Given the description of an element on the screen output the (x, y) to click on. 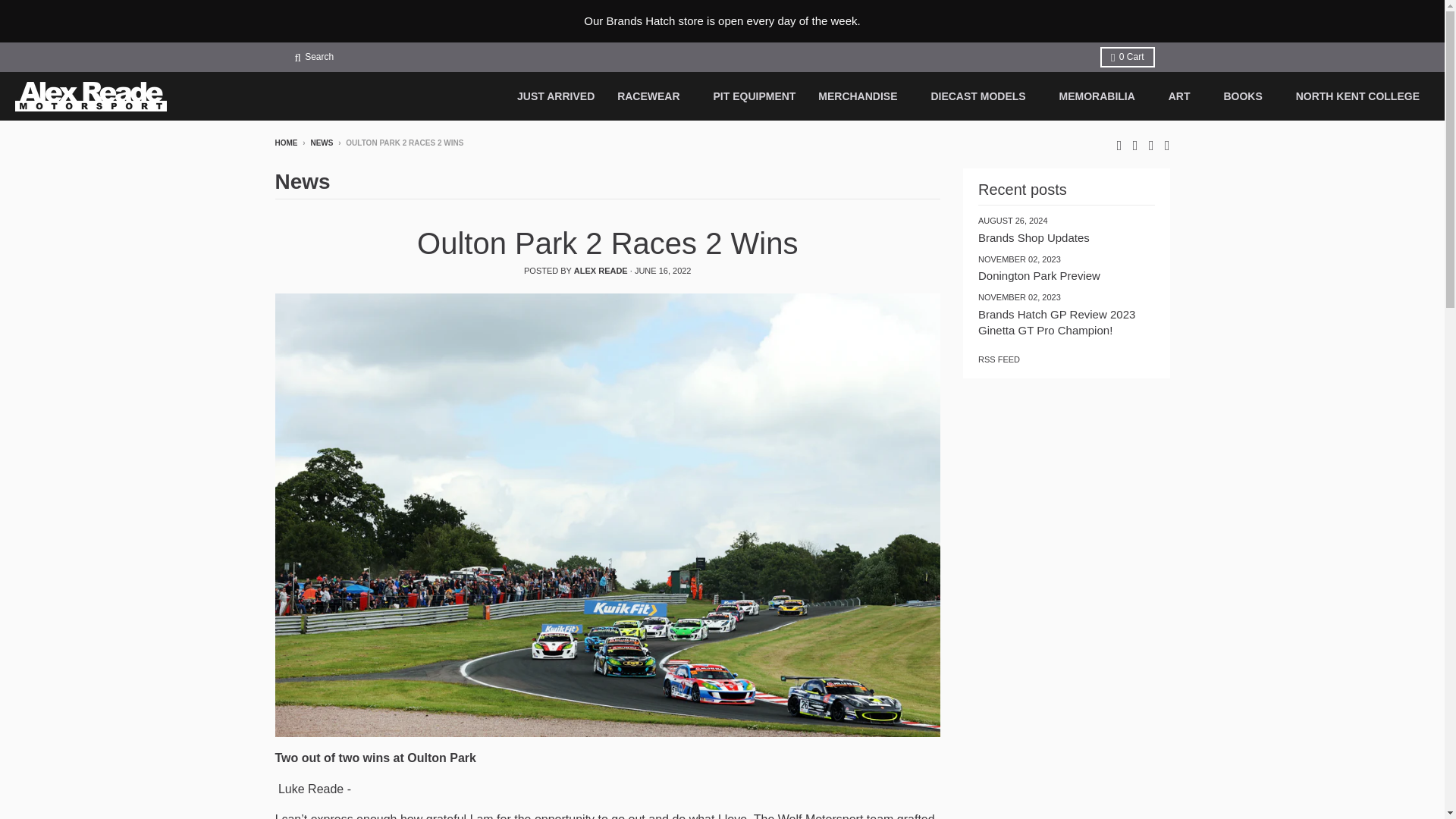
0 Cart (1127, 56)
PIT EQUIPMENT (754, 95)
RACEWEAR (653, 95)
JUST ARRIVED (555, 95)
Search (313, 56)
Back to the frontpage (286, 142)
MERCHANDISE (862, 95)
